Given the description of an element on the screen output the (x, y) to click on. 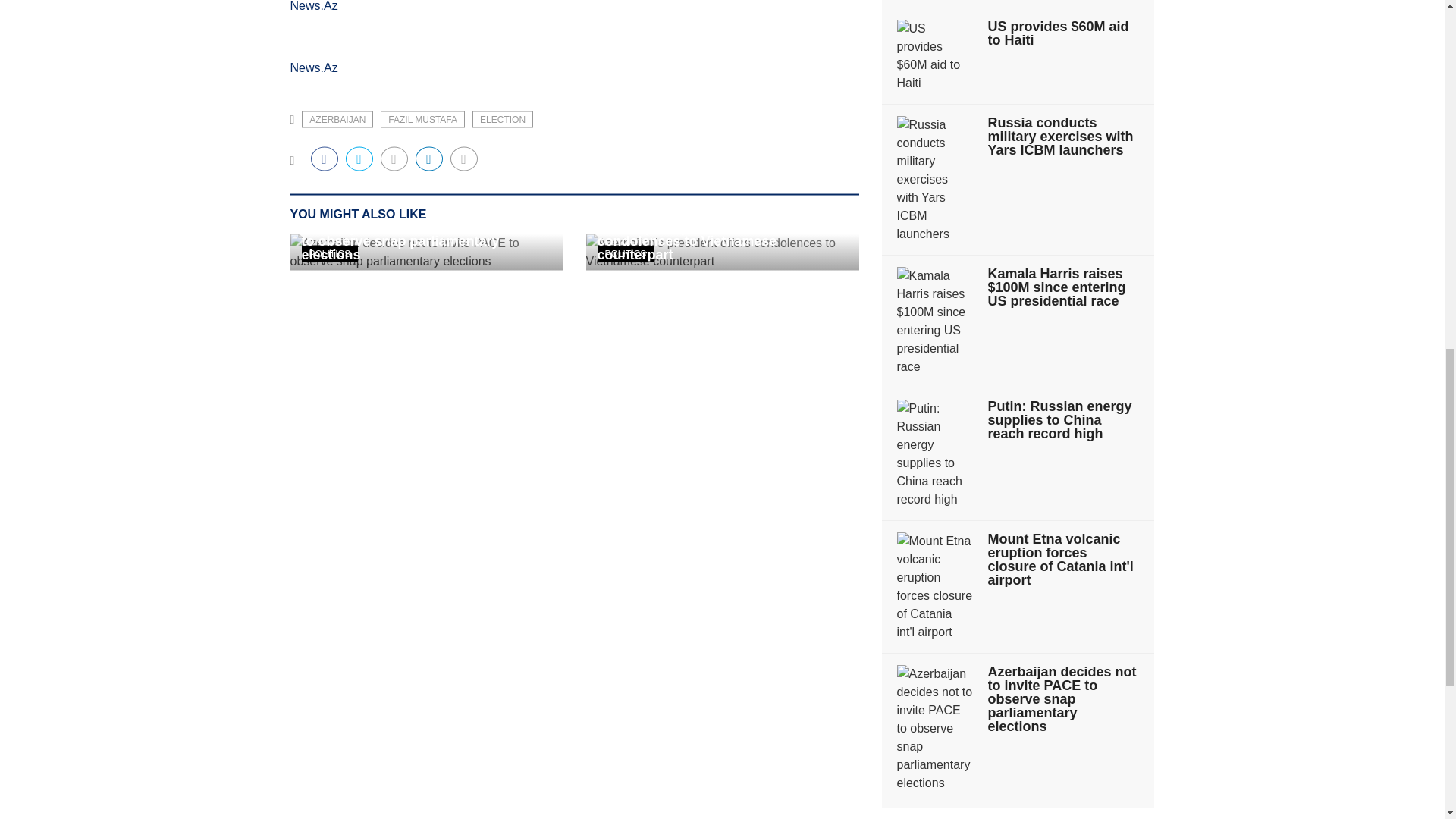
AZERBAIJAN (336, 118)
FAZIL MUSTAFA (422, 118)
News.Az (313, 66)
Share news on Facebook (324, 158)
ELECTION (501, 118)
News.Az (313, 5)
Share news on Twitter (359, 158)
